Given the description of an element on the screen output the (x, y) to click on. 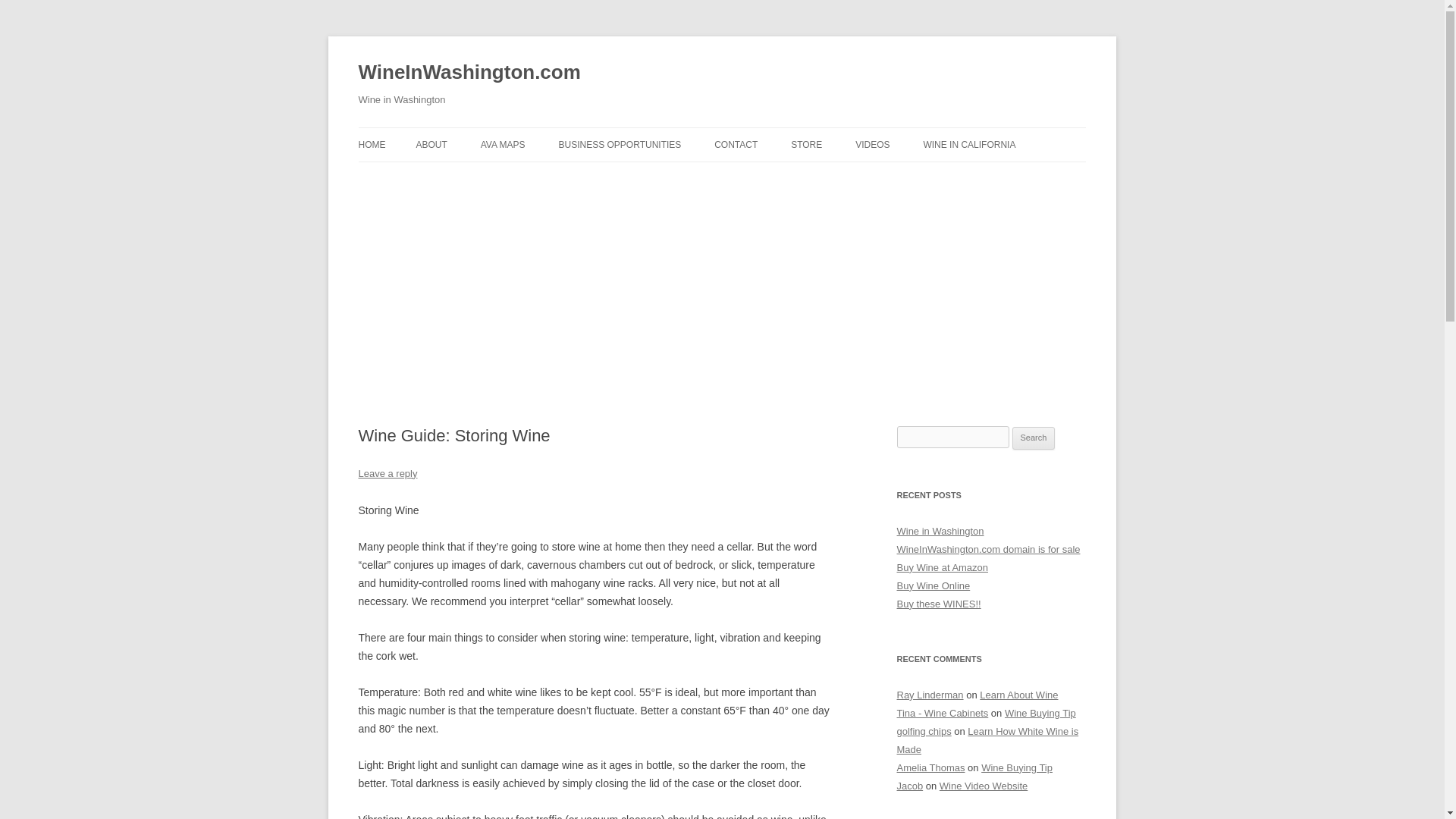
WineInWashington.com domain is for sale (988, 549)
HOME (371, 144)
WINE IN CALIFORNIA (968, 144)
Buy Wine Online (932, 585)
golfing chips (923, 731)
CONTACT (735, 144)
ABOUT (430, 144)
Learn About Wine (1018, 695)
Leave a reply (387, 473)
Learn How White Wine is Made (987, 740)
Wine in Washington (940, 531)
Buy these WINES!! (937, 603)
WineInWashington.com (468, 72)
Buy Wine at Amazon (942, 567)
Ray Linderman (929, 695)
